Given the description of an element on the screen output the (x, y) to click on. 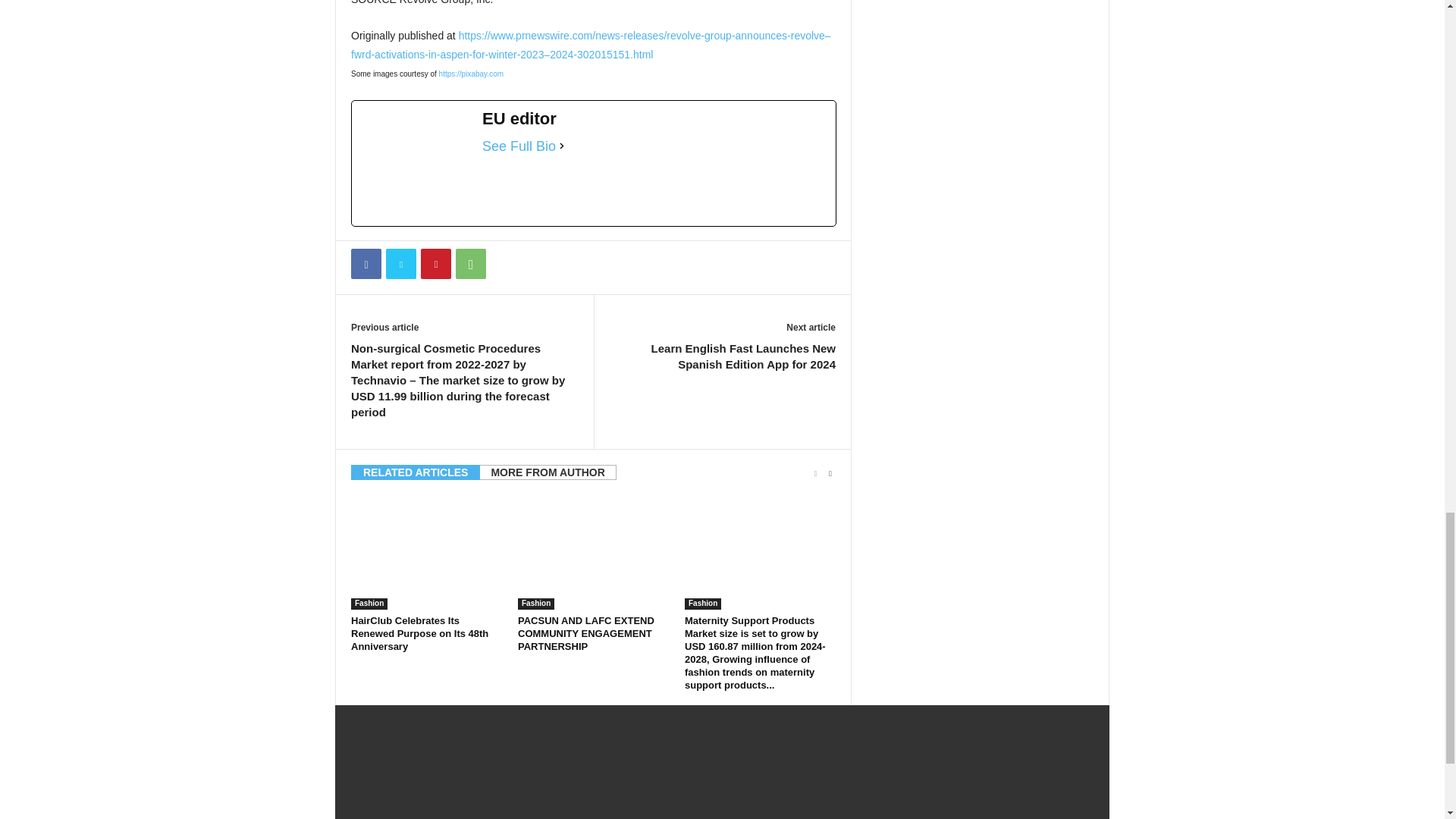
See Full Bio (518, 146)
